Given the description of an element on the screen output the (x, y) to click on. 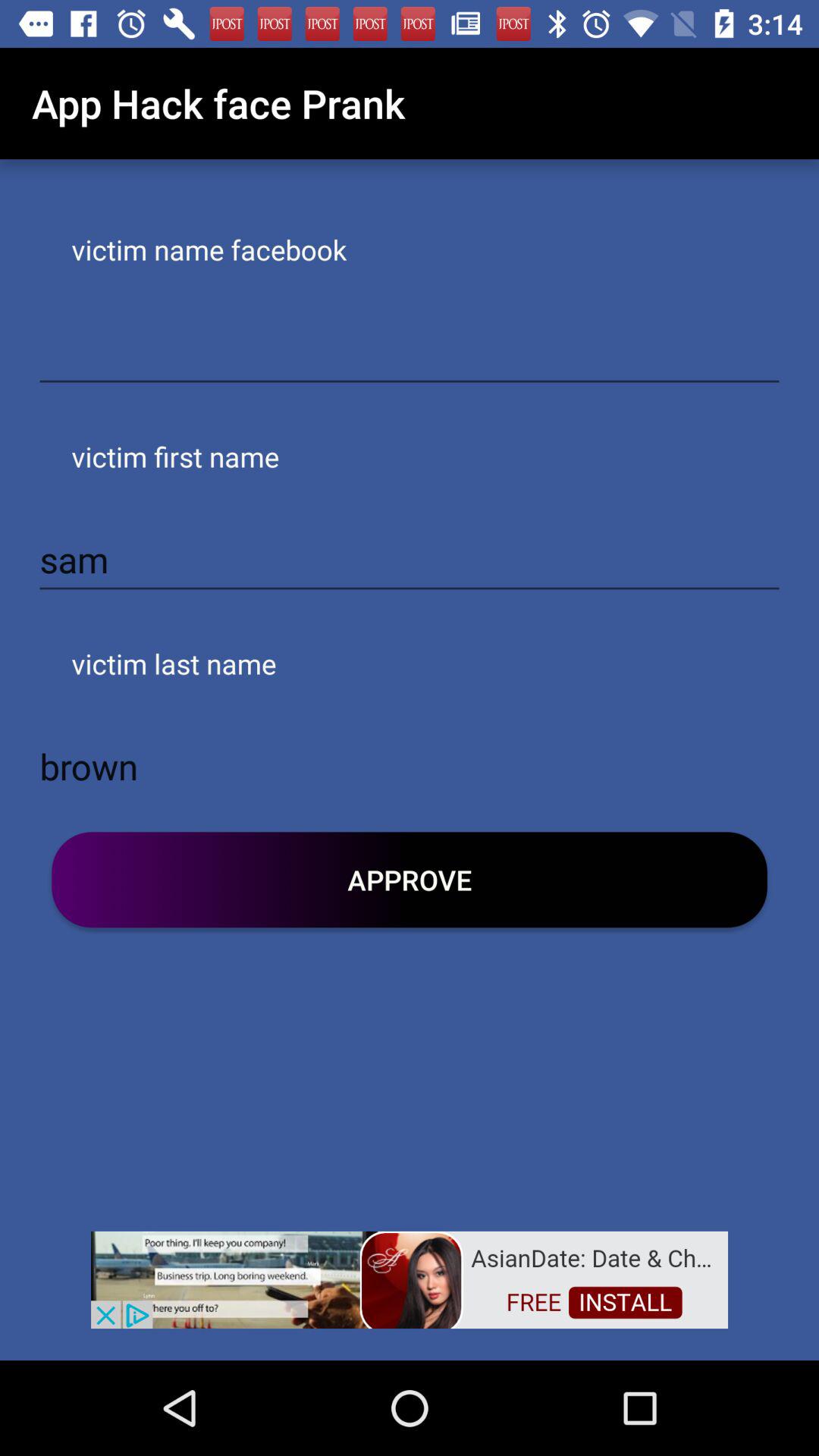
open advertisement (409, 1278)
